Given the description of an element on the screen output the (x, y) to click on. 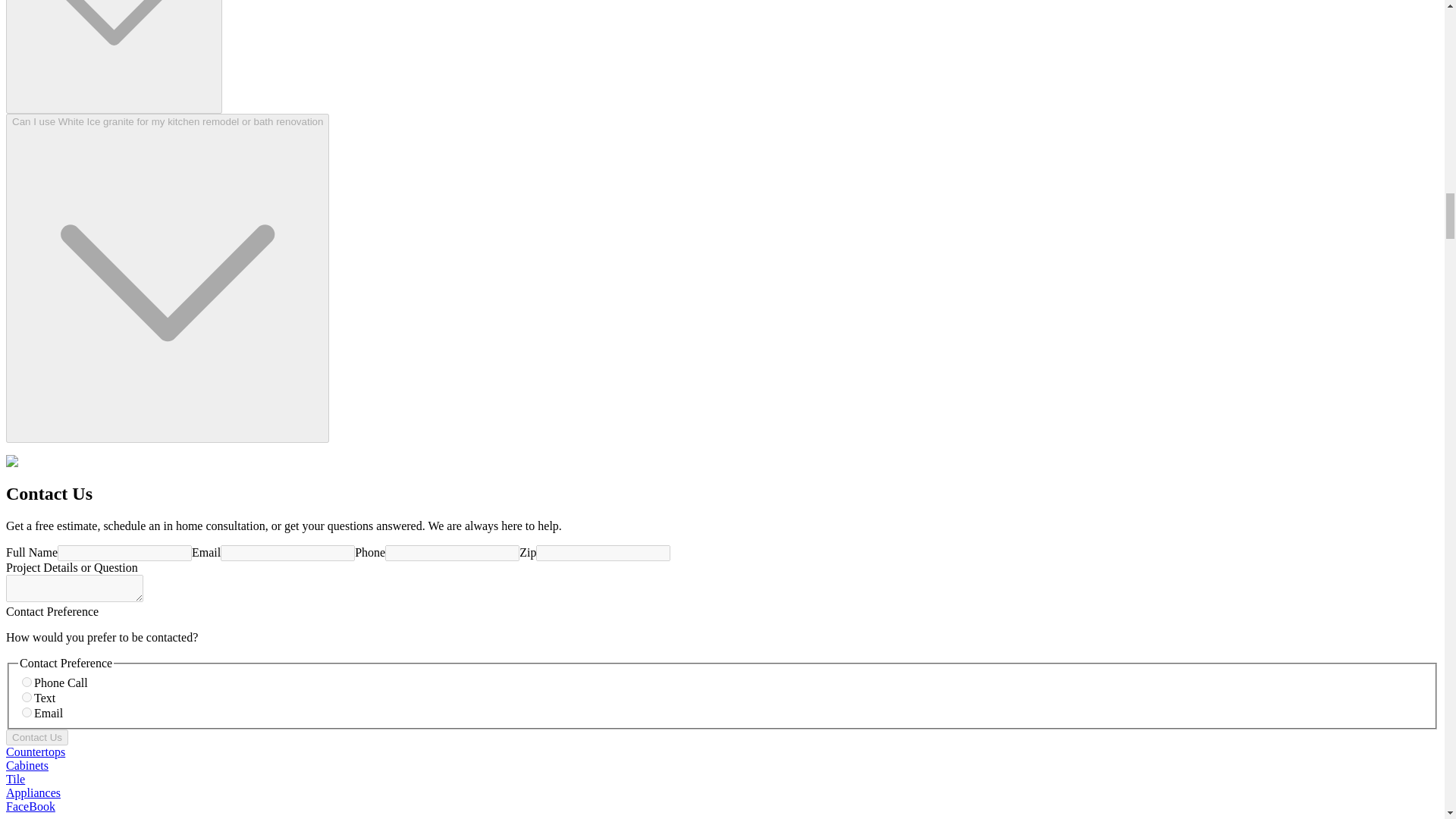
Text (26, 696)
Appliances (33, 792)
Phone Call (26, 682)
Contact Us (36, 737)
Email (26, 712)
Are White Ice granite countertops still popular (113, 56)
Tile (14, 779)
Countertops (35, 751)
Cabinets (26, 765)
